Given the description of an element on the screen output the (x, y) to click on. 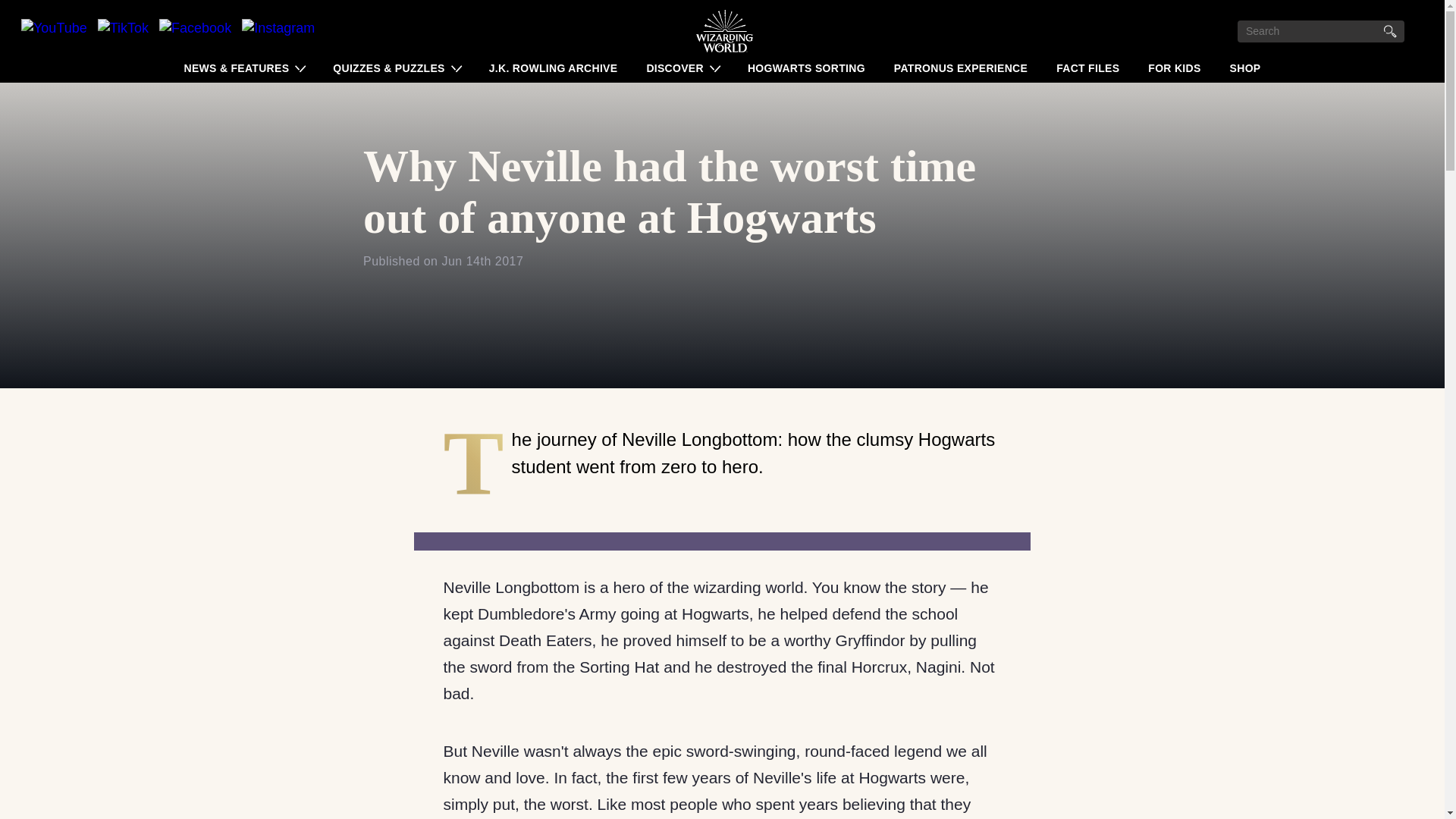
J.K. ROWLING ARCHIVE (553, 71)
FACT FILES (1087, 71)
HOGWARTS SORTING (805, 71)
SHOP (1245, 71)
FOR KIDS (1174, 71)
PATRONUS EXPERIENCE (960, 71)
Home Page (723, 30)
